Given the description of an element on the screen output the (x, y) to click on. 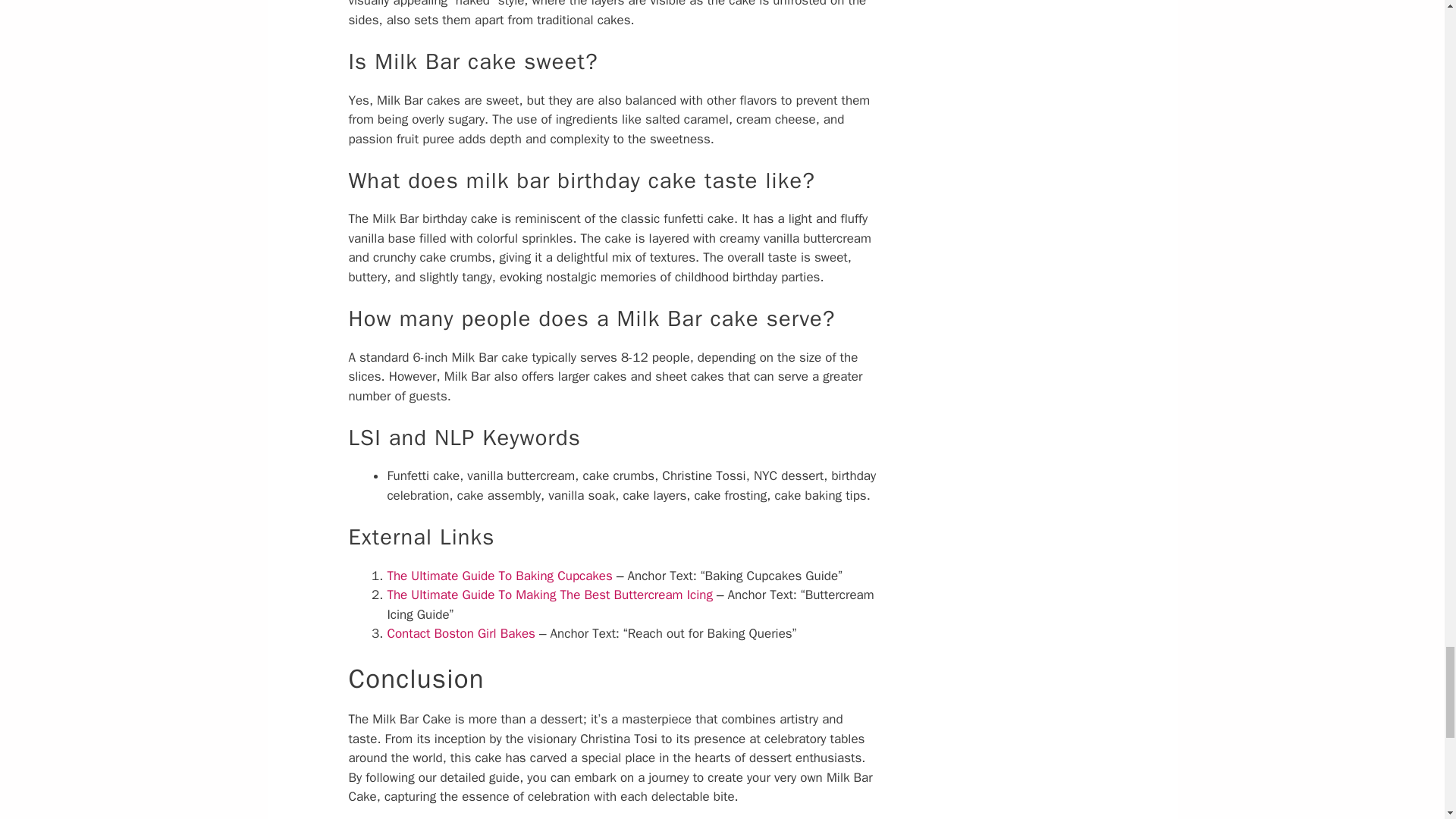
The Ultimate Guide To Baking Cupcakes (499, 575)
The Ultimate Guide To Making The Best Buttercream Icing (550, 594)
